Given the description of an element on the screen output the (x, y) to click on. 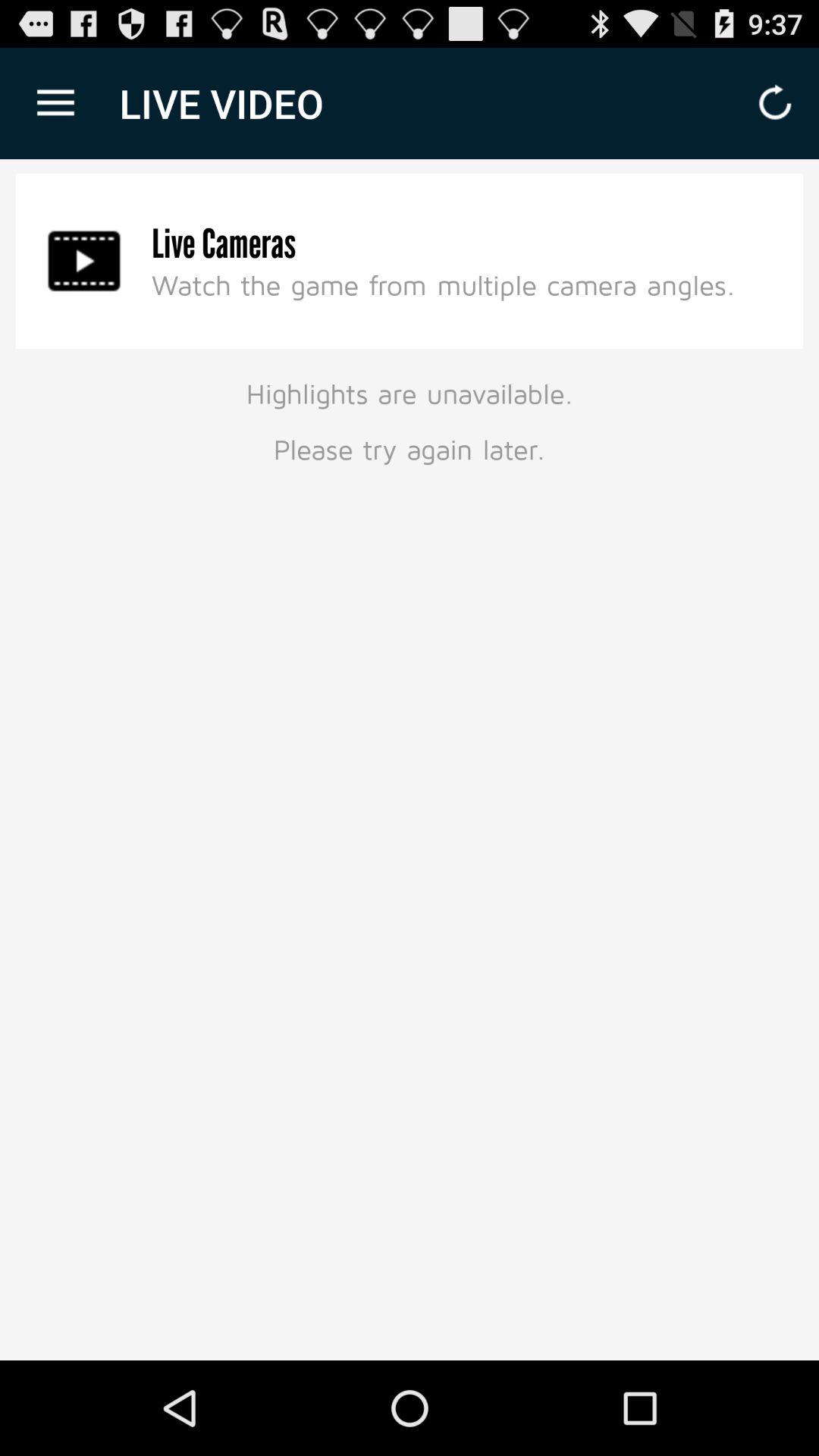
press the icon to the left of the live cameras (83, 260)
